Given the description of an element on the screen output the (x, y) to click on. 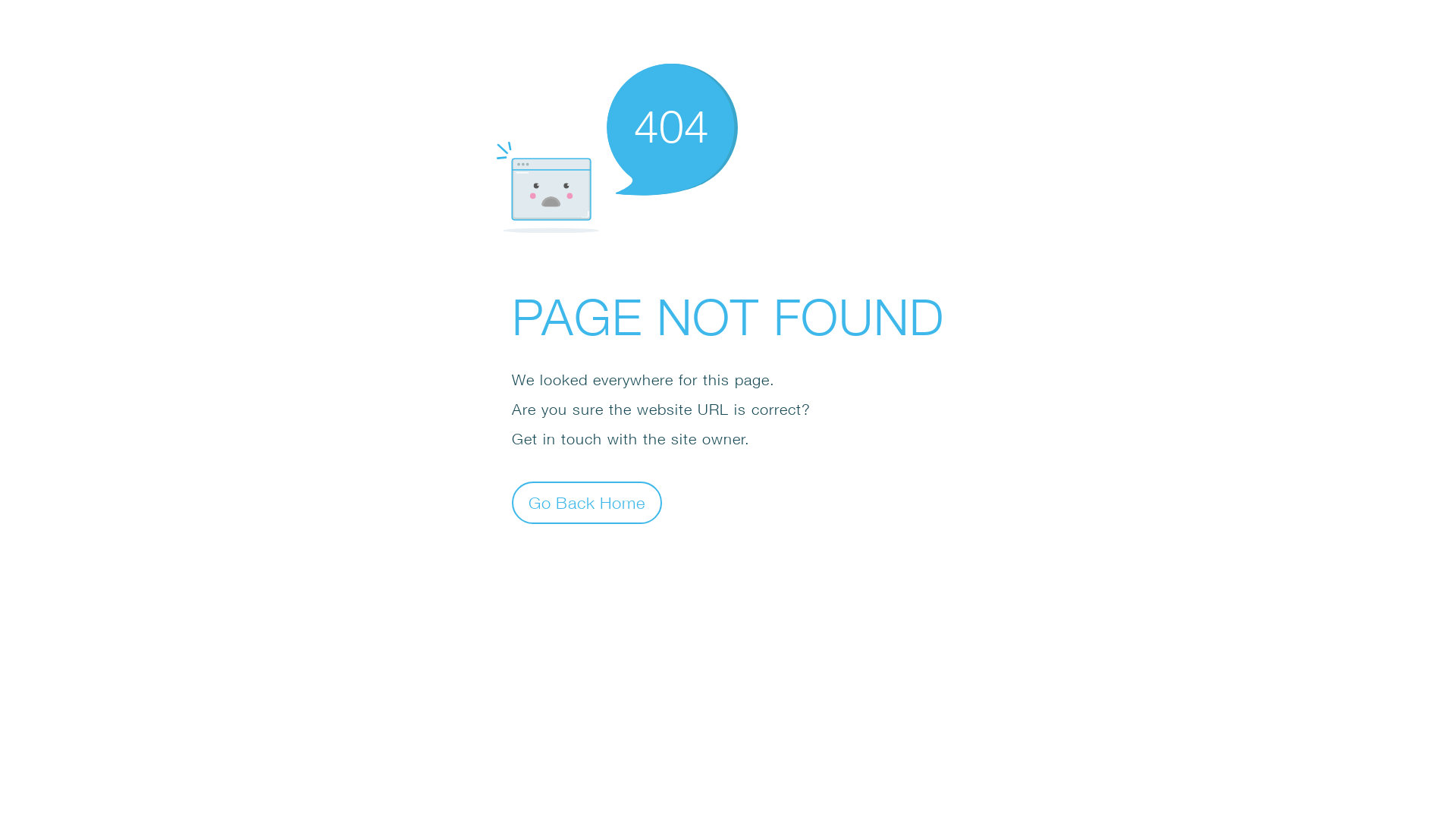
Go Back Home Element type: text (586, 502)
